Given the description of an element on the screen output the (x, y) to click on. 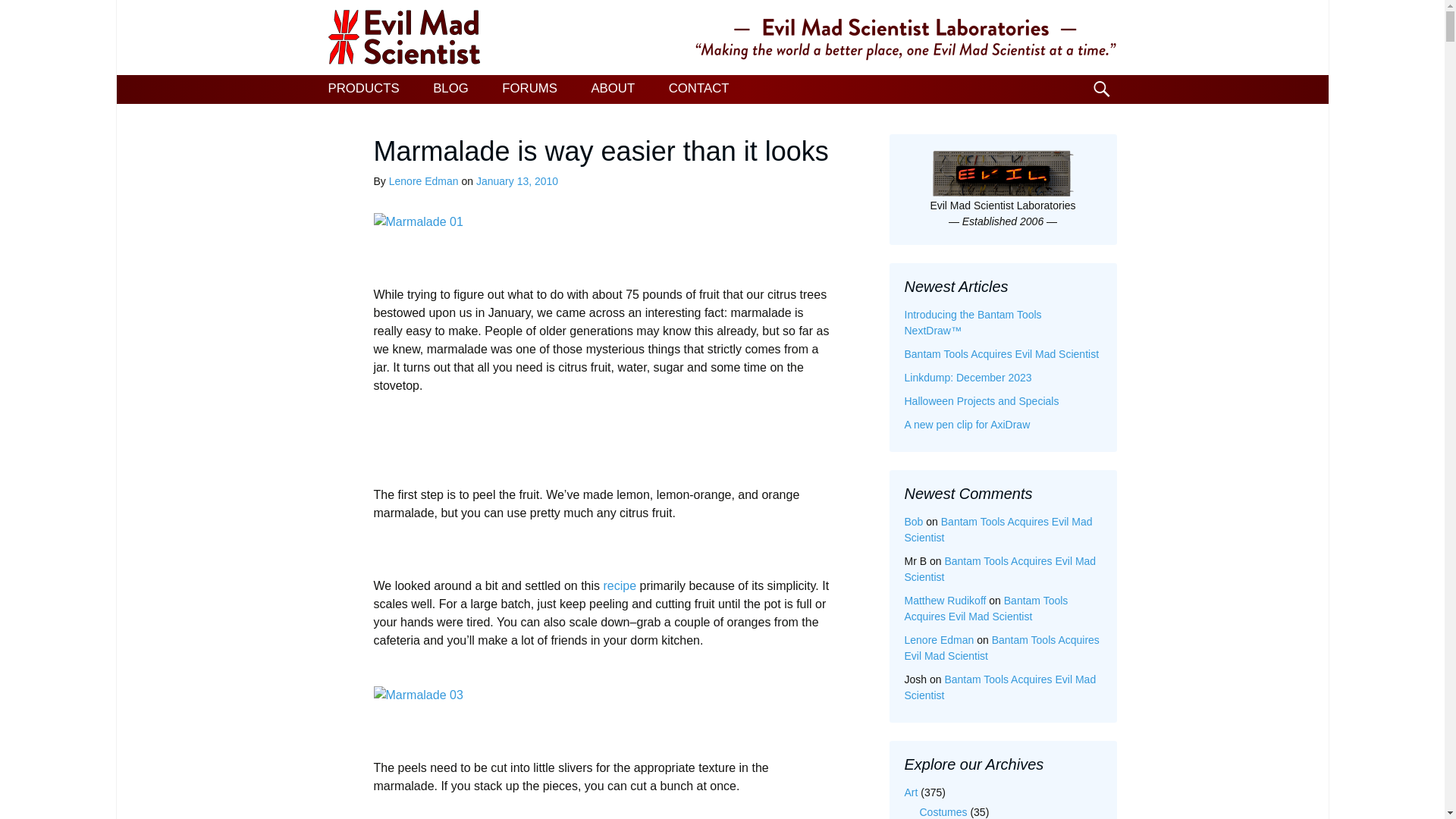
Evil Mad Scientist Forum (529, 89)
recipe (620, 585)
Marmalade 03 by L. Marie, on Flickr (417, 694)
Permalink to Marmalade is way easier than it looks (516, 181)
FORUMS (529, 89)
PRODUCTS (363, 89)
ABOUT (612, 89)
E-mail contact form (698, 89)
Search (18, 15)
Marmalade 01 by L. Marie, on Flickr (417, 220)
